Given the description of an element on the screen output the (x, y) to click on. 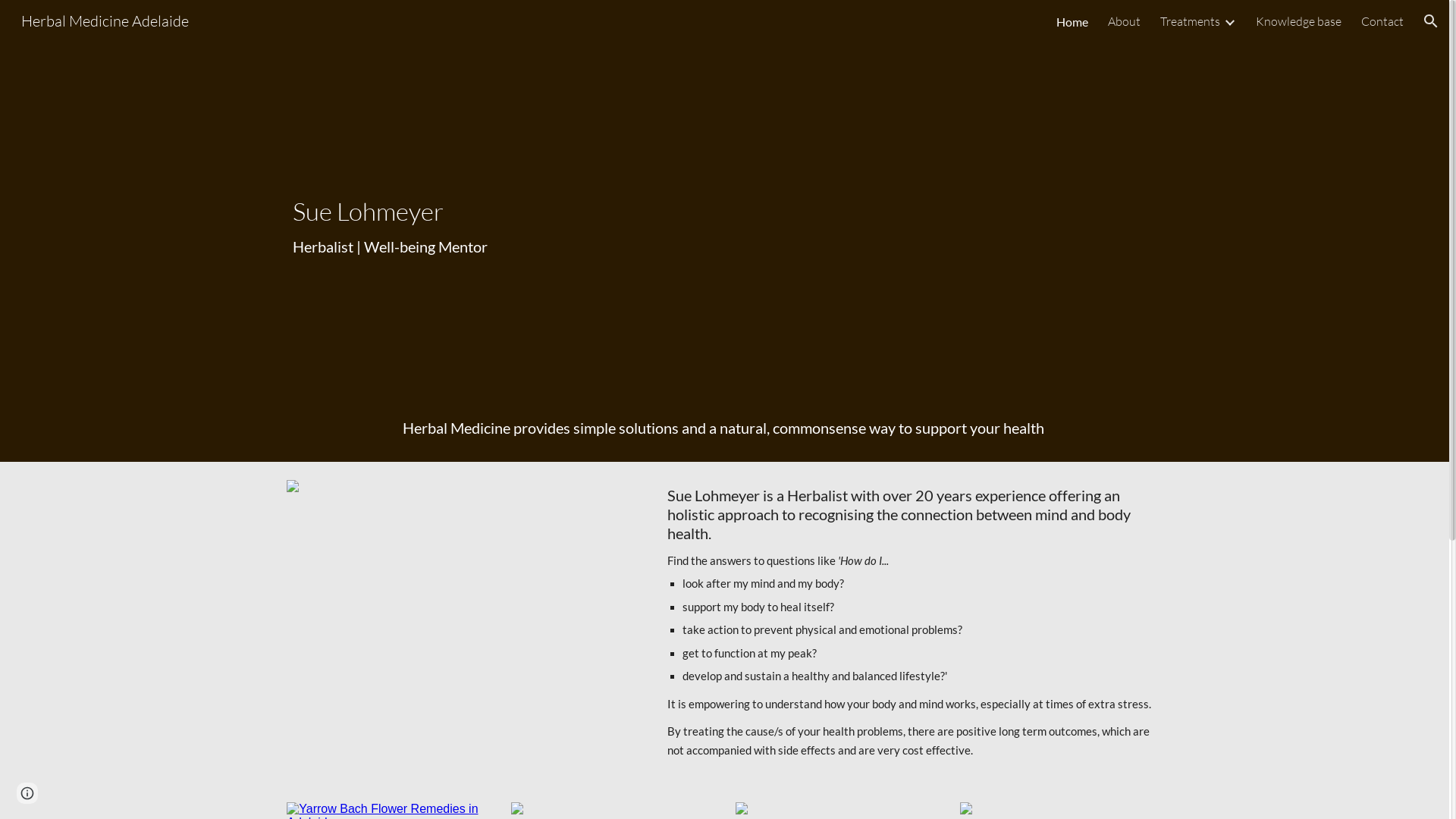
About Element type: text (1123, 20)
Home Element type: text (1072, 20)
Contact Element type: text (1382, 20)
Treatments Element type: text (1190, 20)
Knowledge base Element type: text (1298, 20)
Expand/Collapse Element type: hover (1229, 20)
Herbal Medicine Adelaide Element type: text (104, 18)
